Given the description of an element on the screen output the (x, y) to click on. 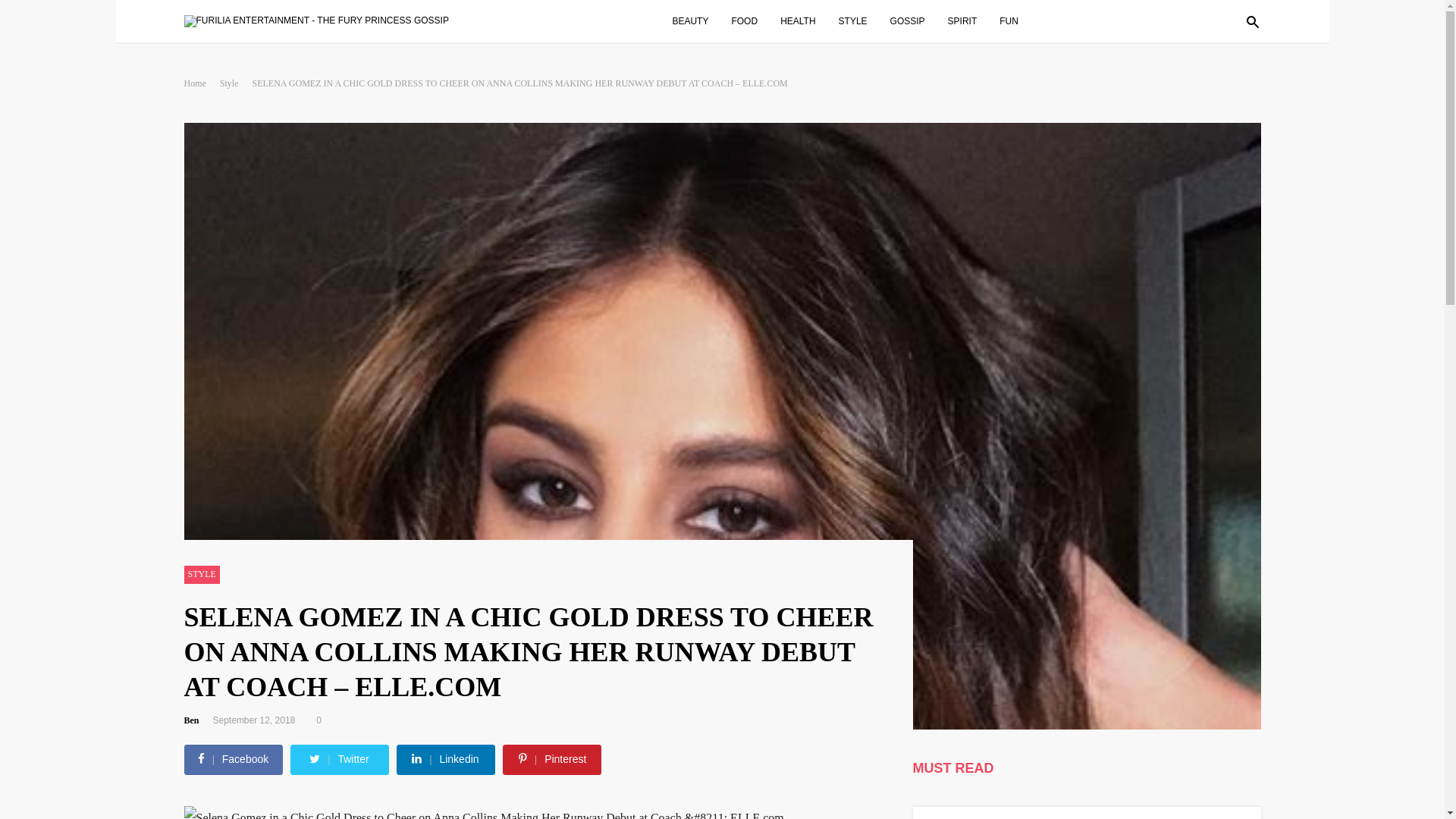
Ben (196, 719)
HEALTH (804, 20)
Twitter (339, 758)
FUN (1015, 20)
BEAUTY (697, 20)
Facebook (233, 758)
Linkedin (445, 758)
STYLE (860, 20)
GOSSIP (914, 20)
Style (234, 82)
Home (199, 82)
STYLE (201, 574)
Pinterest (552, 758)
FOOD (751, 20)
